Given the description of an element on the screen output the (x, y) to click on. 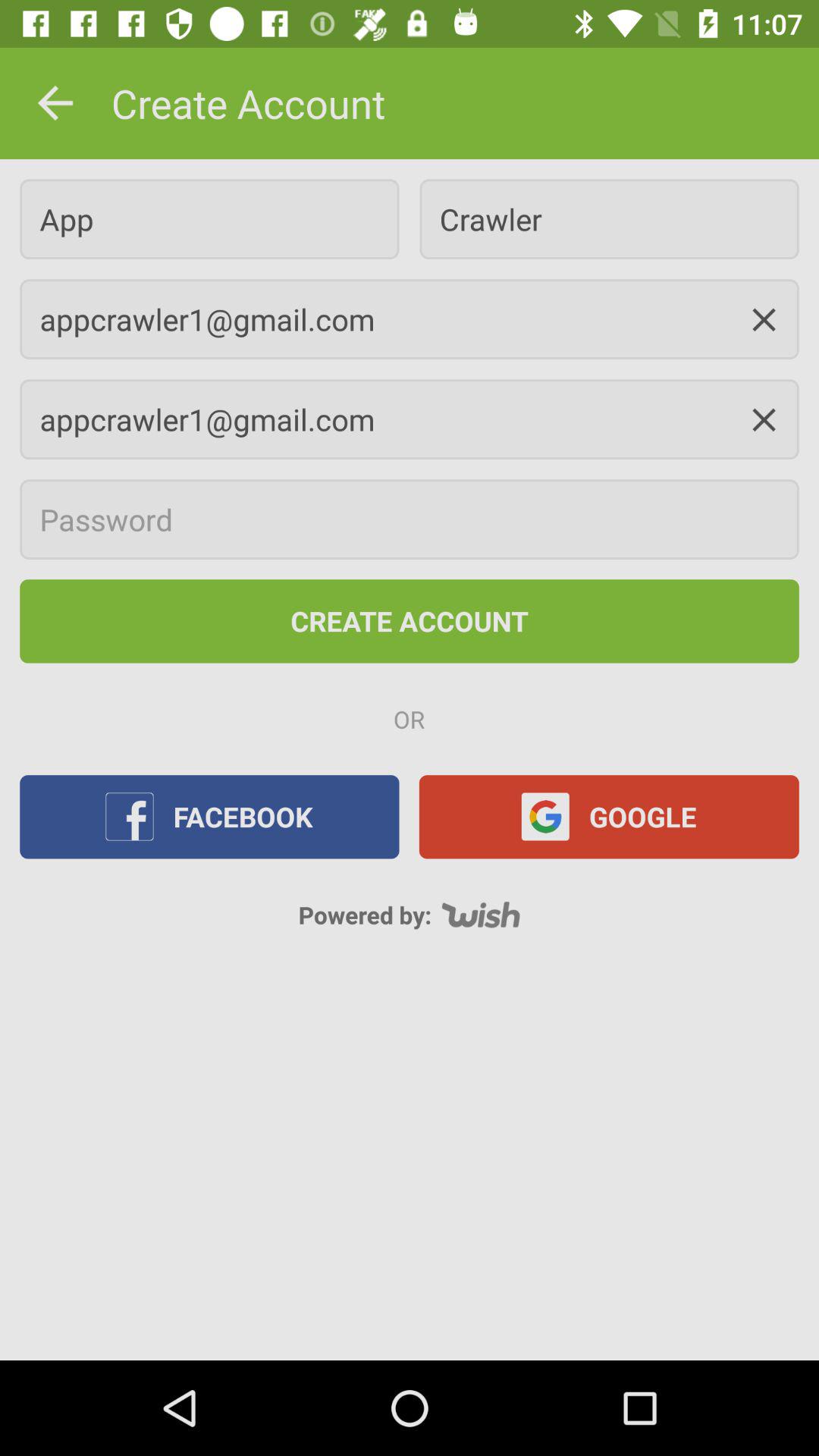
turn off the icon above app (55, 103)
